Given the description of an element on the screen output the (x, y) to click on. 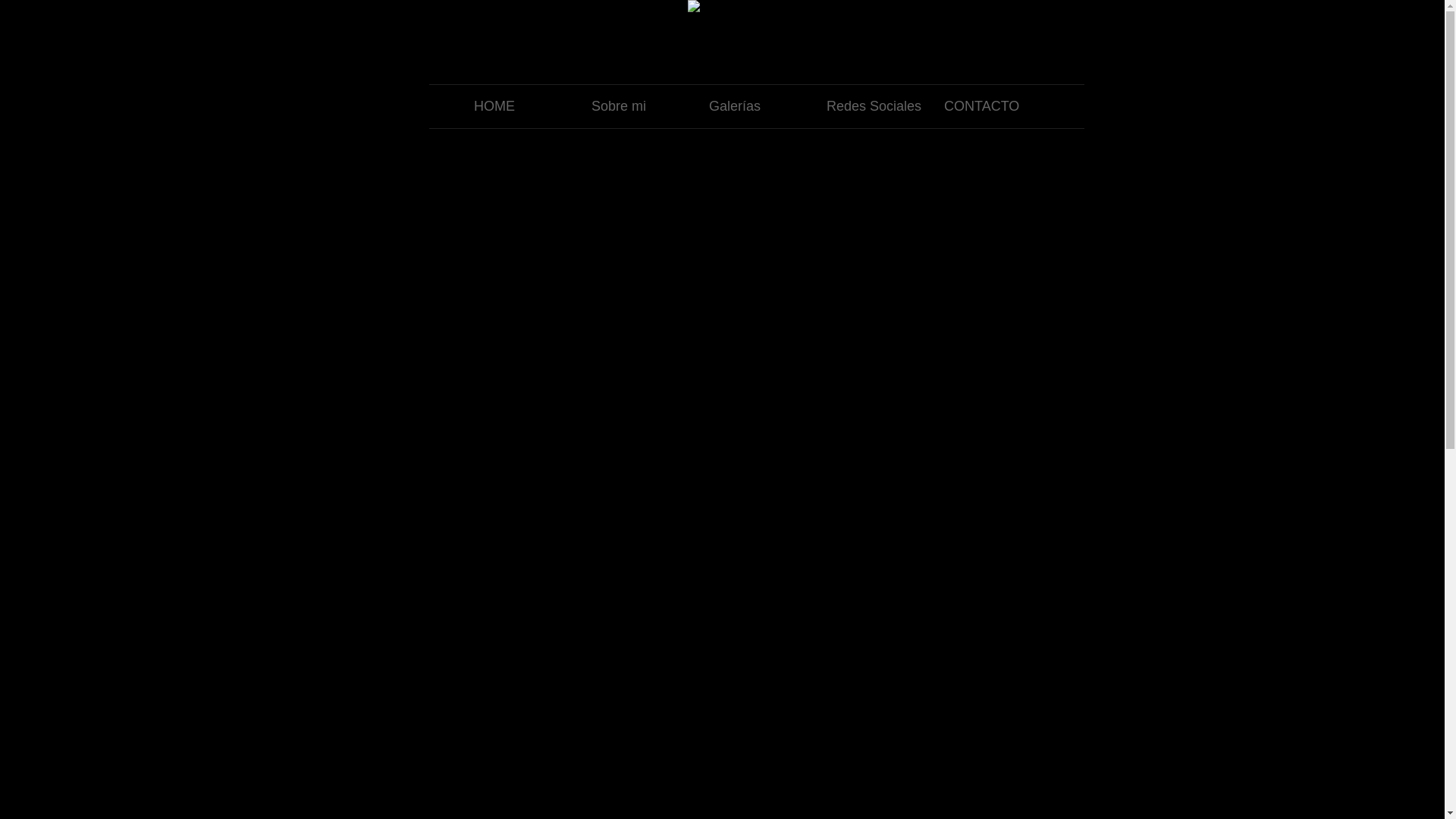
CONTACTO Element type: text (991, 106)
HOME Element type: text (521, 106)
Sobre mi Element type: text (638, 106)
Redes Sociales Element type: text (873, 106)
